Given the description of an element on the screen output the (x, y) to click on. 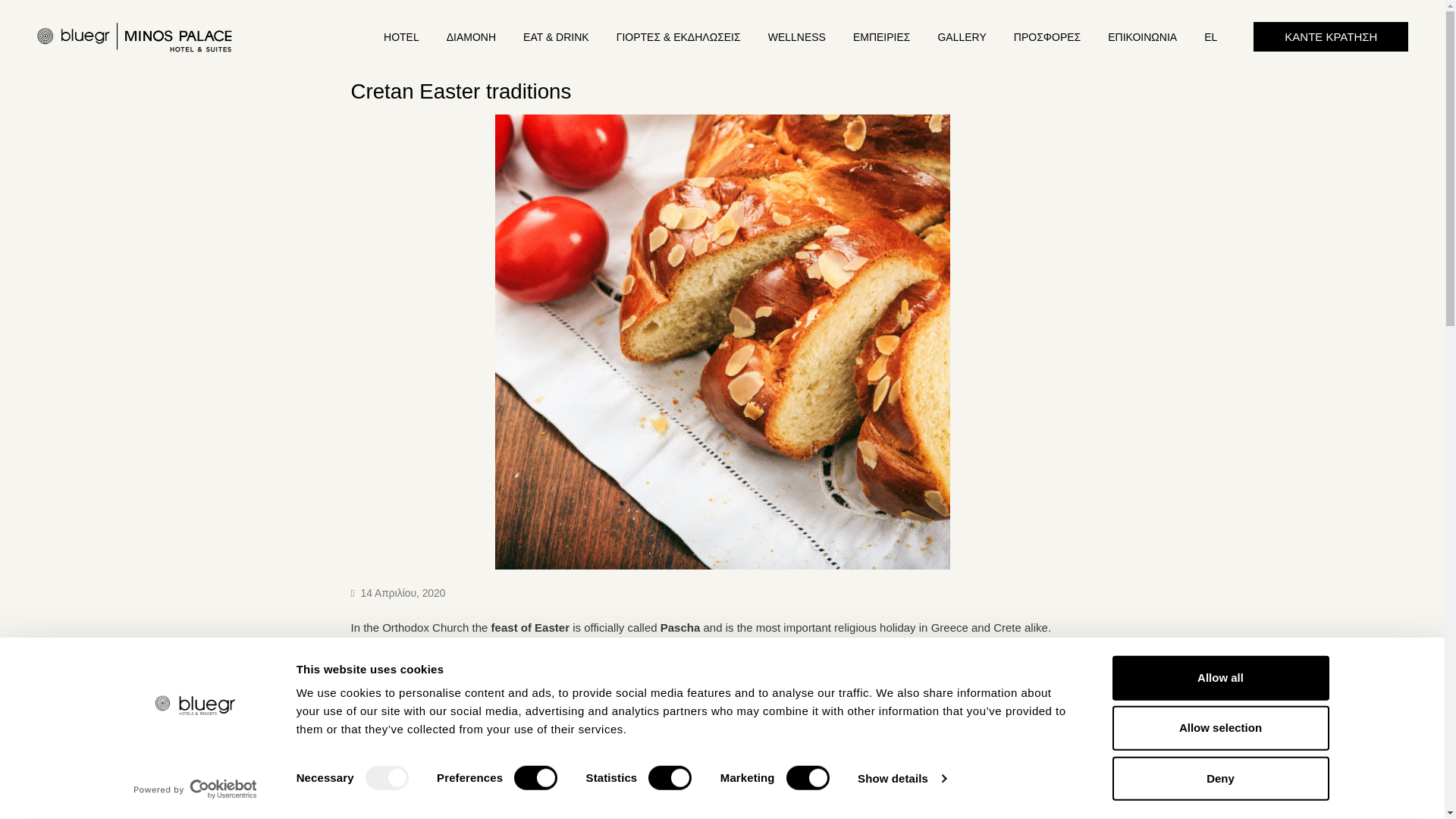
Show details (900, 778)
